Given the description of an element on the screen output the (x, y) to click on. 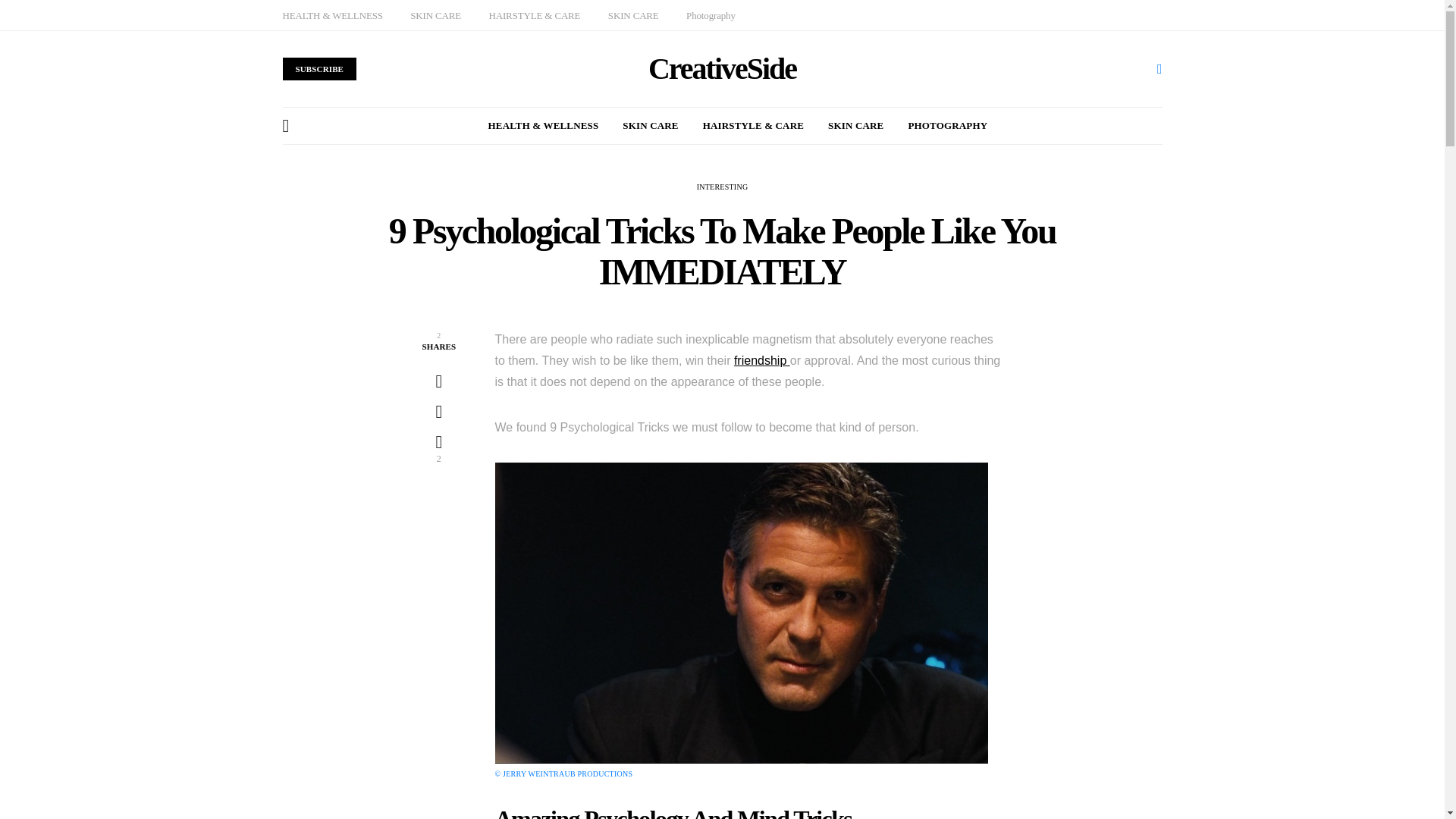
friendship (761, 359)
INTERESTING (722, 186)
2 (437, 448)
PHOTOGRAPHY (947, 125)
CreativeSide (721, 69)
SKIN CARE (855, 125)
Photography (710, 15)
SUBSCRIBE (319, 69)
SKIN CARE (633, 15)
SKIN CARE (435, 15)
SKIN CARE (650, 125)
